Given the description of an element on the screen output the (x, y) to click on. 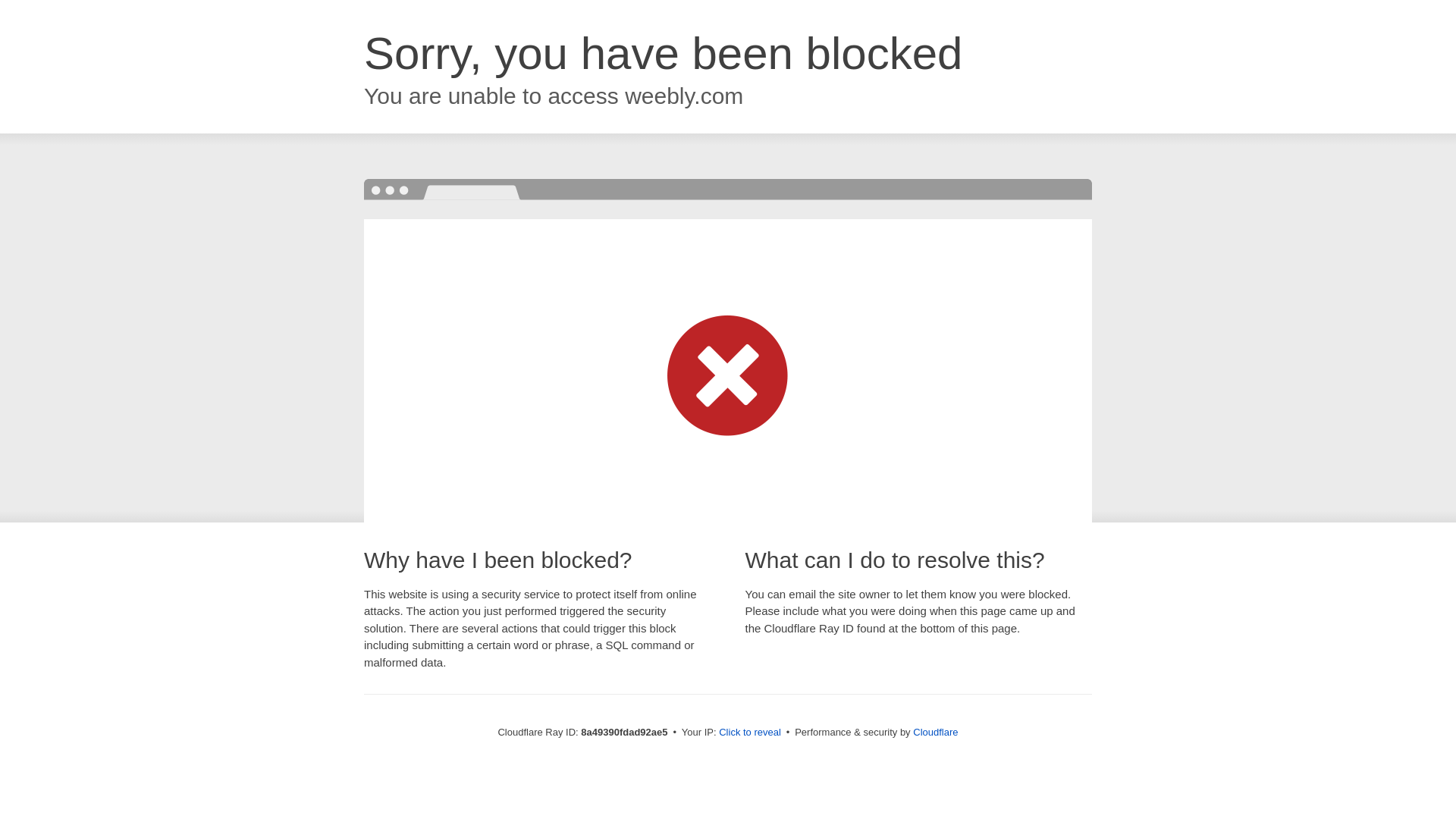
Cloudflare (935, 731)
Click to reveal (749, 732)
